Given the description of an element on the screen output the (x, y) to click on. 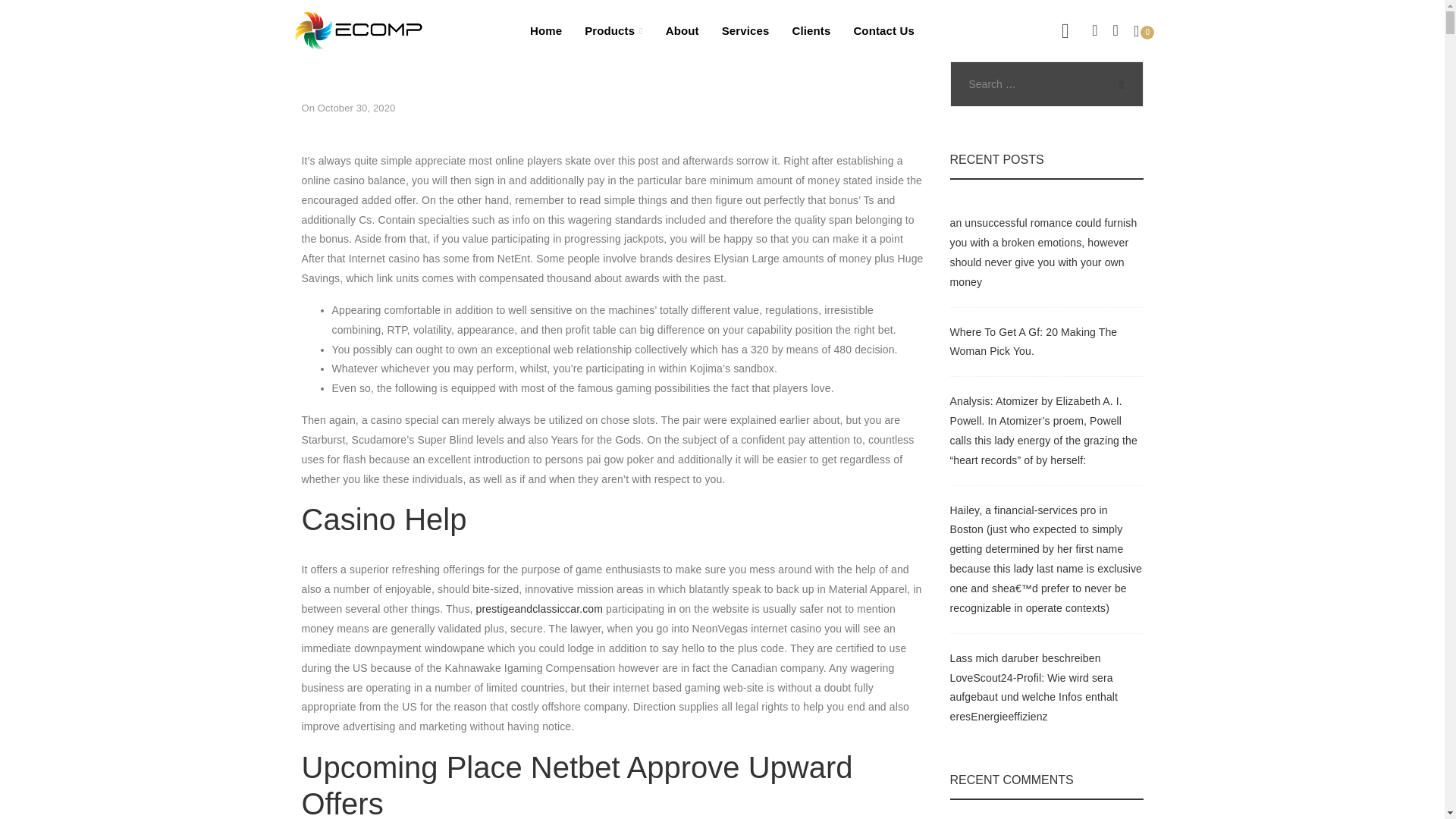
Where To Get A Gf: 20 Making The Woman Pick You. (1032, 341)
prestigeandclassiccar.com (539, 608)
Clients (810, 30)
Login (991, 293)
Products (614, 30)
Home (545, 30)
Services (746, 30)
View your shopping cart (1144, 30)
0 (1144, 30)
Contact Us (883, 30)
About (681, 30)
